Given the description of an element on the screen output the (x, y) to click on. 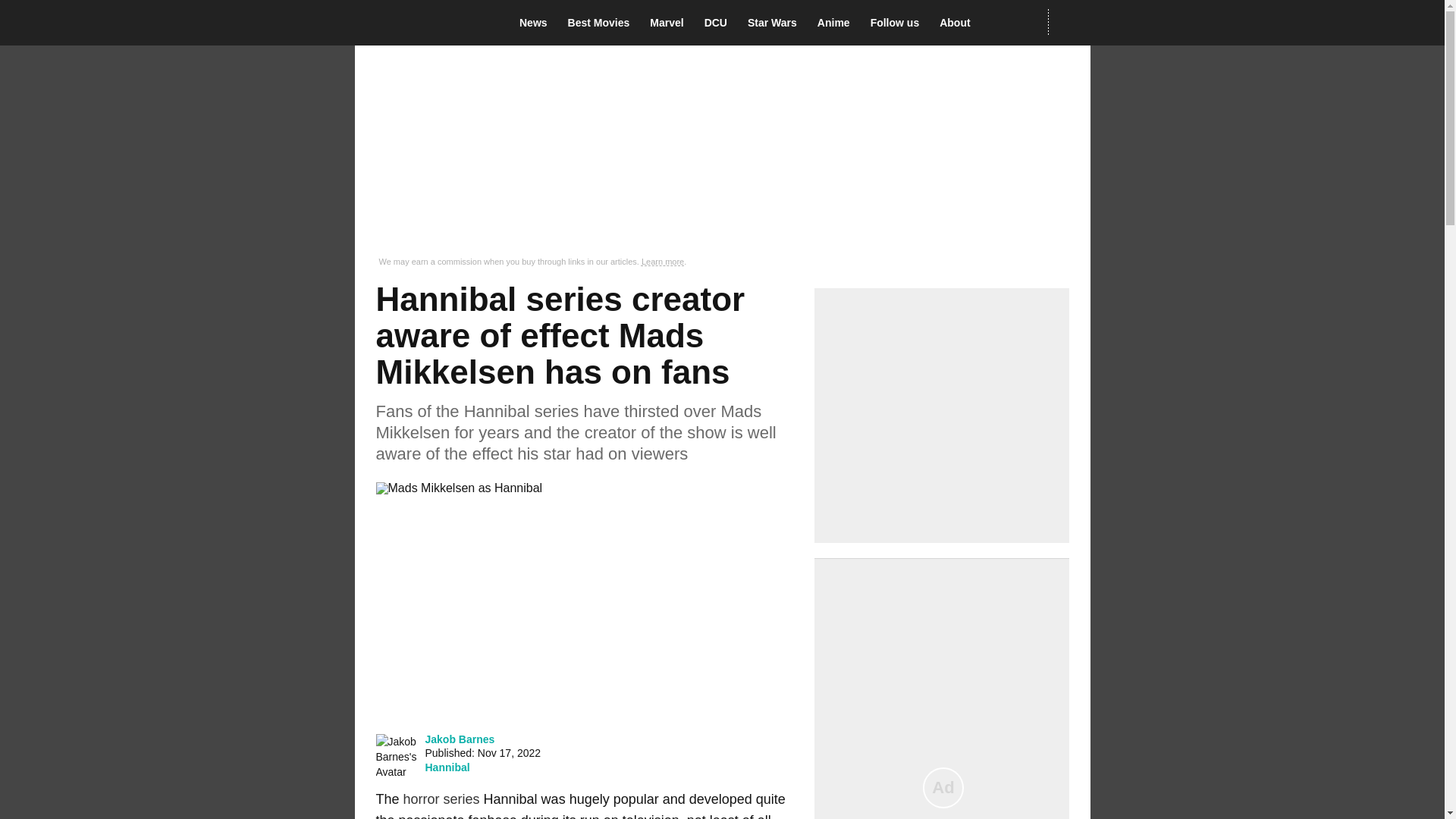
horror series (441, 798)
Star Wars (777, 22)
Marvel Cinematic Universe News (671, 22)
The Digital Fix (424, 22)
Network N Media (1068, 22)
Star Wars News (777, 22)
Anime (837, 22)
Learn more (663, 261)
Hannibal (446, 767)
Marvel (671, 22)
